Given the description of an element on the screen output the (x, y) to click on. 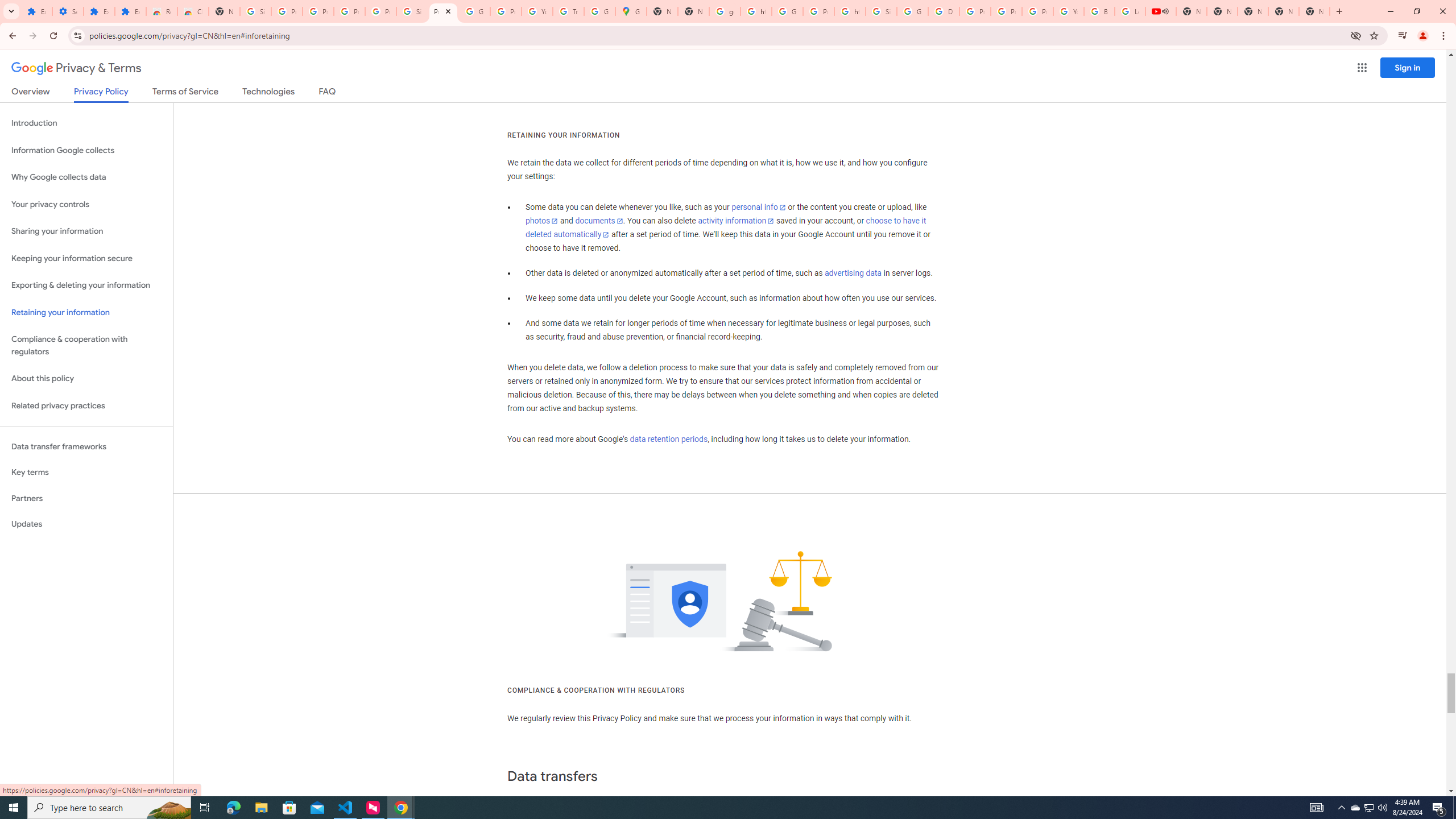
Privacy Help Center - Policies Help (1005, 11)
YouTube (536, 11)
Mute tab (1165, 10)
Partners (86, 497)
personal info (758, 207)
advertising data (852, 273)
Information Google collects (86, 150)
